Given the description of an element on the screen output the (x, y) to click on. 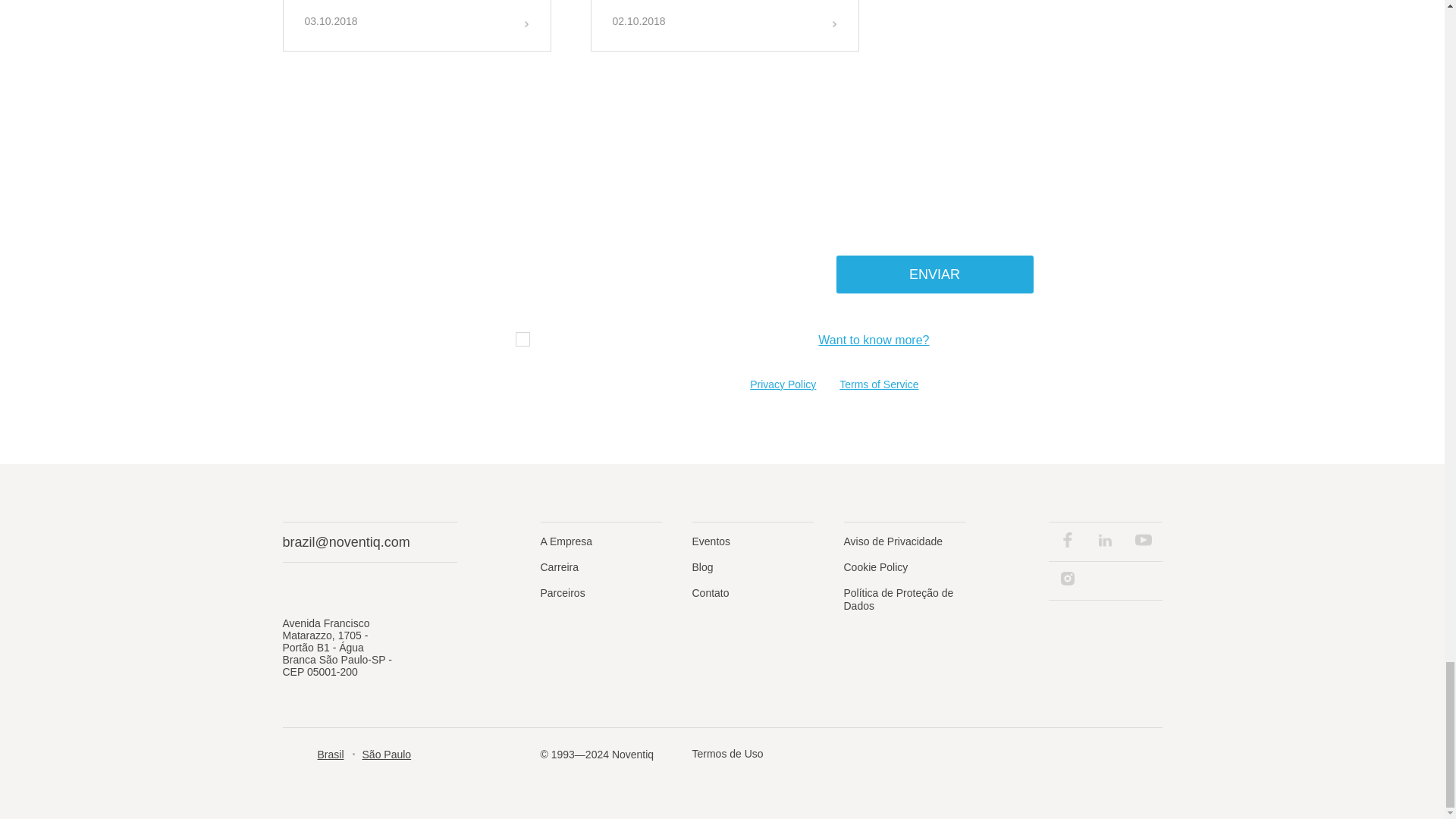
Enviar (933, 274)
